Given the description of an element on the screen output the (x, y) to click on. 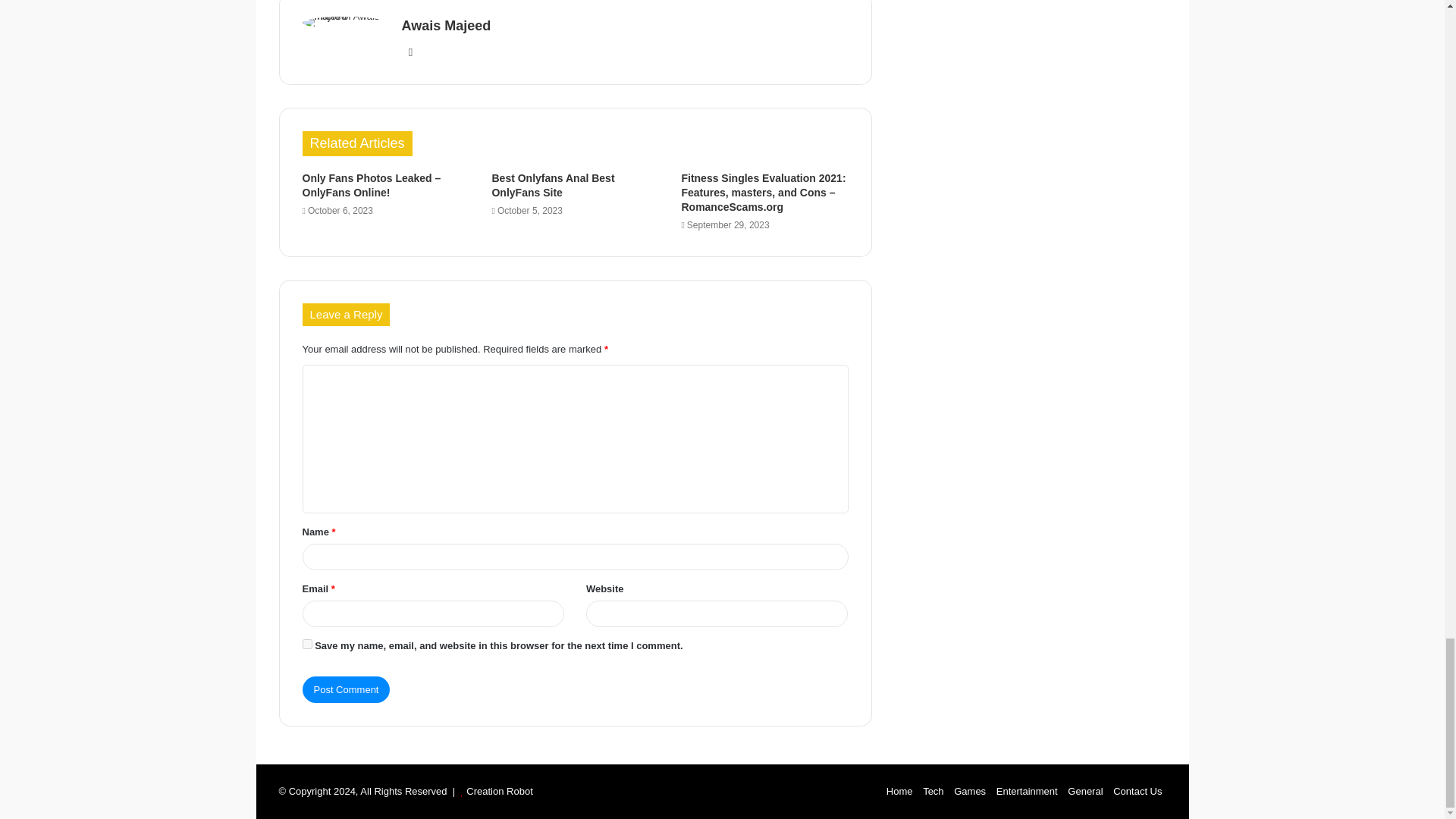
Post Comment (345, 689)
yes (306, 644)
